Given the description of an element on the screen output the (x, y) to click on. 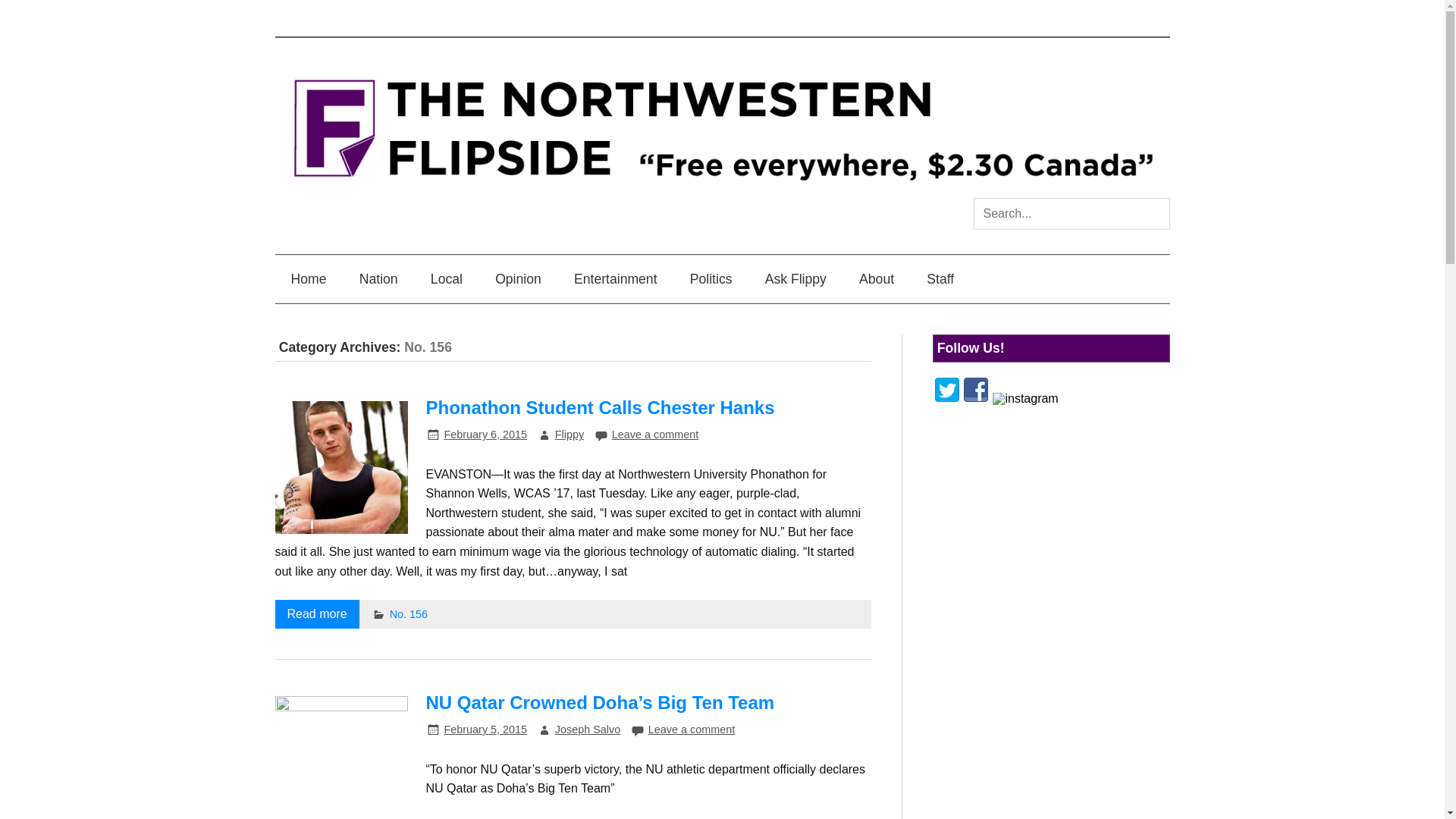
Northwestern Flipside (722, 191)
Home (308, 278)
Politics (711, 278)
Staff (940, 278)
About (876, 278)
Ask Flippy (796, 278)
No. 156 (409, 613)
February 6, 2015 (485, 434)
February 5, 2015 (485, 729)
Leave a comment (654, 434)
Entertainment (614, 278)
Flippy (568, 434)
Opinion (518, 278)
View all posts by Flippy (568, 434)
10:00 am (485, 729)
